Given the description of an element on the screen output the (x, y) to click on. 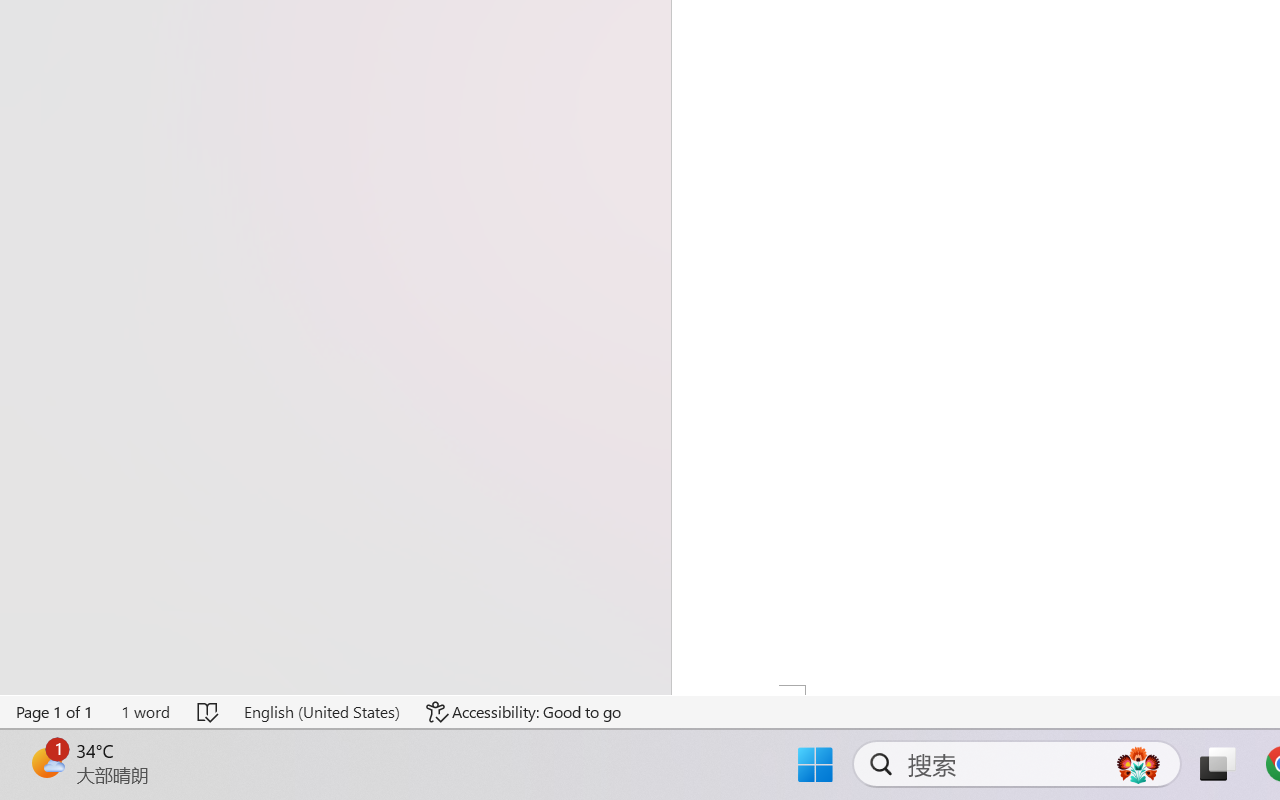
Page Number Page 1 of 1 (55, 712)
